Given the description of an element on the screen output the (x, y) to click on. 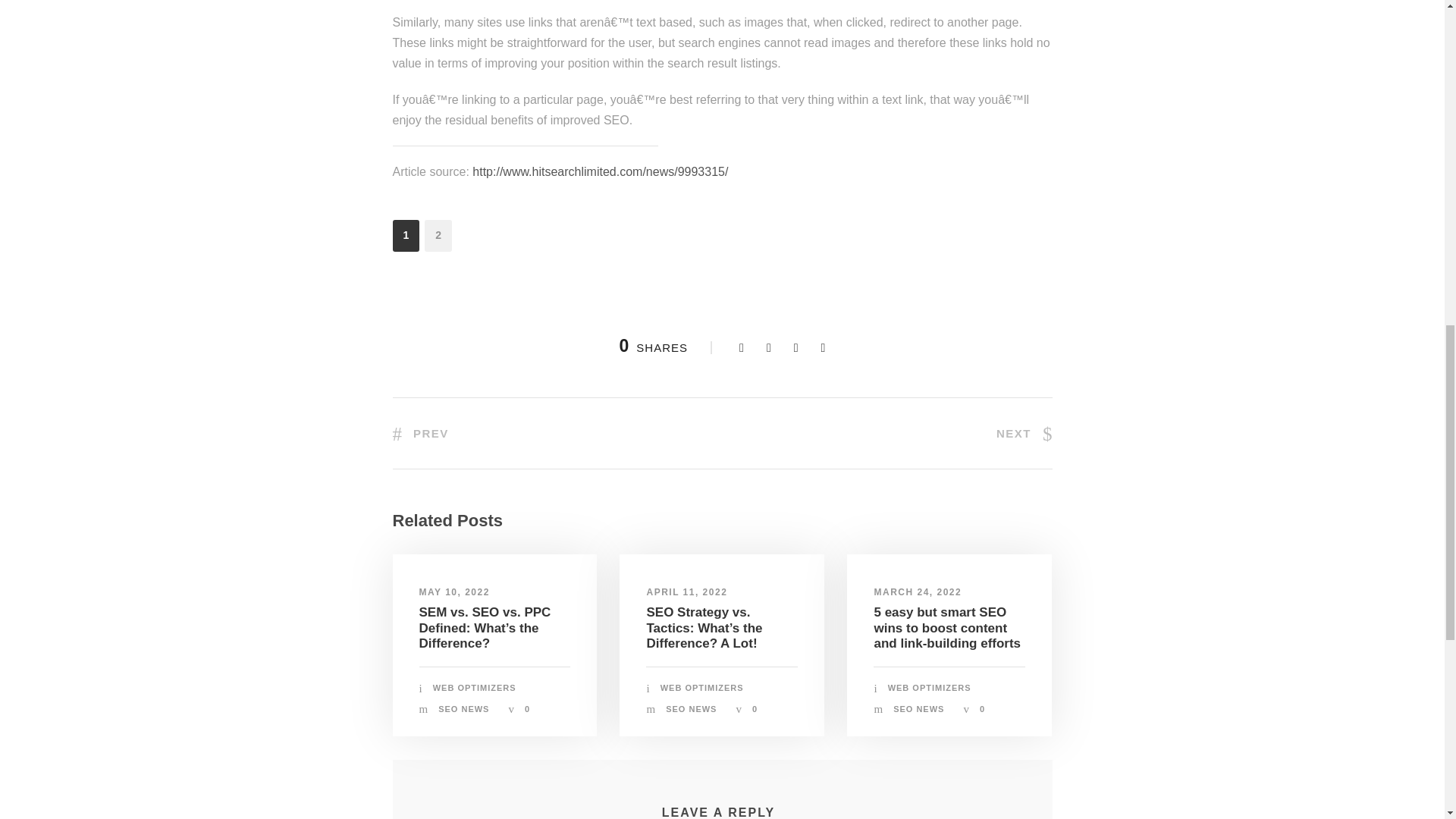
SEO NEWS (463, 708)
Posts by Web Optimizers (474, 687)
Posts by Web Optimizers (702, 687)
APRIL 11, 2022 (686, 592)
PREV (420, 432)
MAY 10, 2022 (454, 592)
NEXT (1023, 432)
Posts by Web Optimizers (929, 687)
WEB OPTIMIZERS (474, 687)
